Given the description of an element on the screen output the (x, y) to click on. 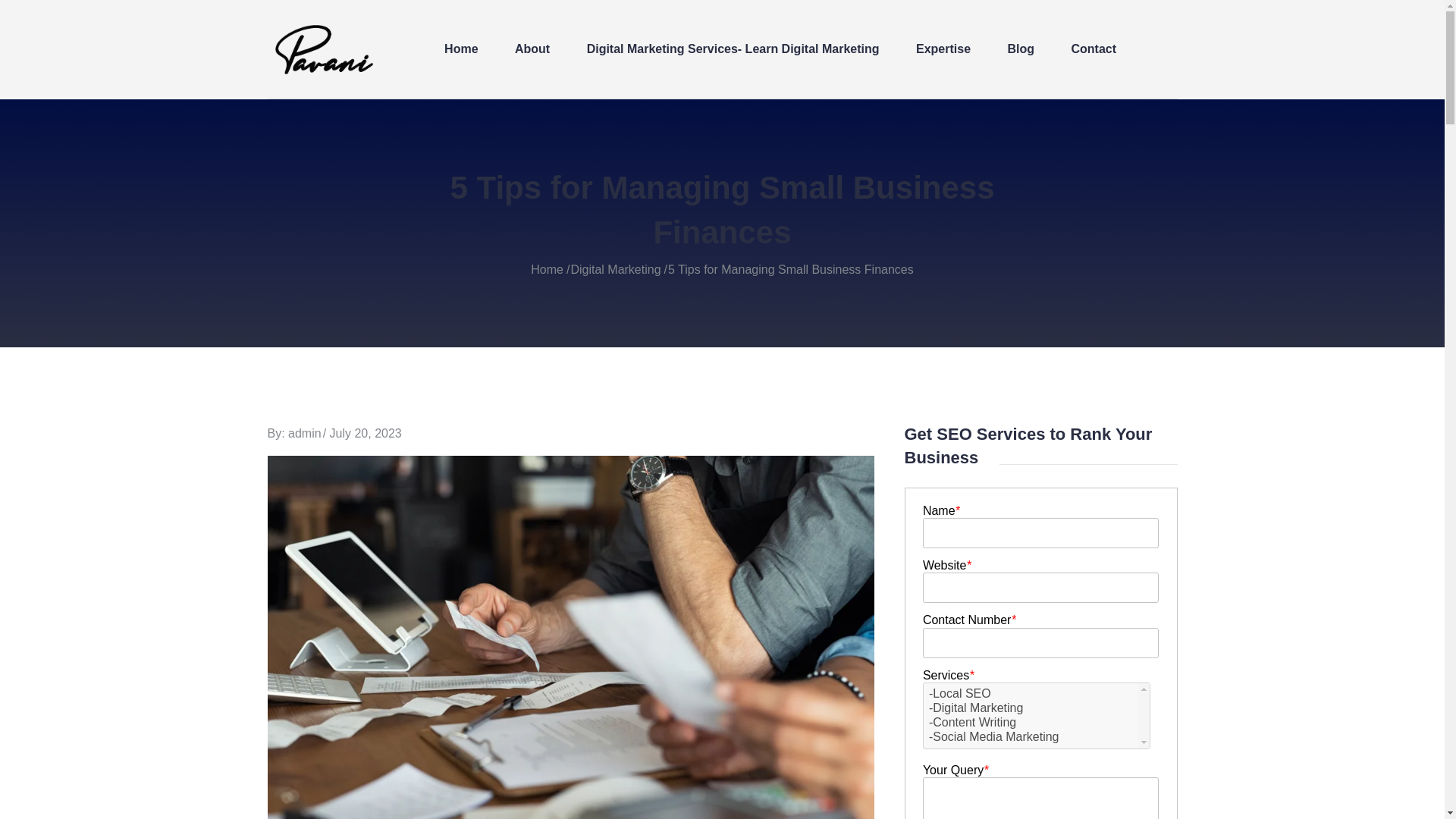
admin (304, 432)
Home (547, 269)
Digital Marketing Services- Learn Digital Marketing (733, 49)
July 20, 2023 (365, 432)
Expertise (943, 49)
Digital Marketing (615, 269)
